Given the description of an element on the screen output the (x, y) to click on. 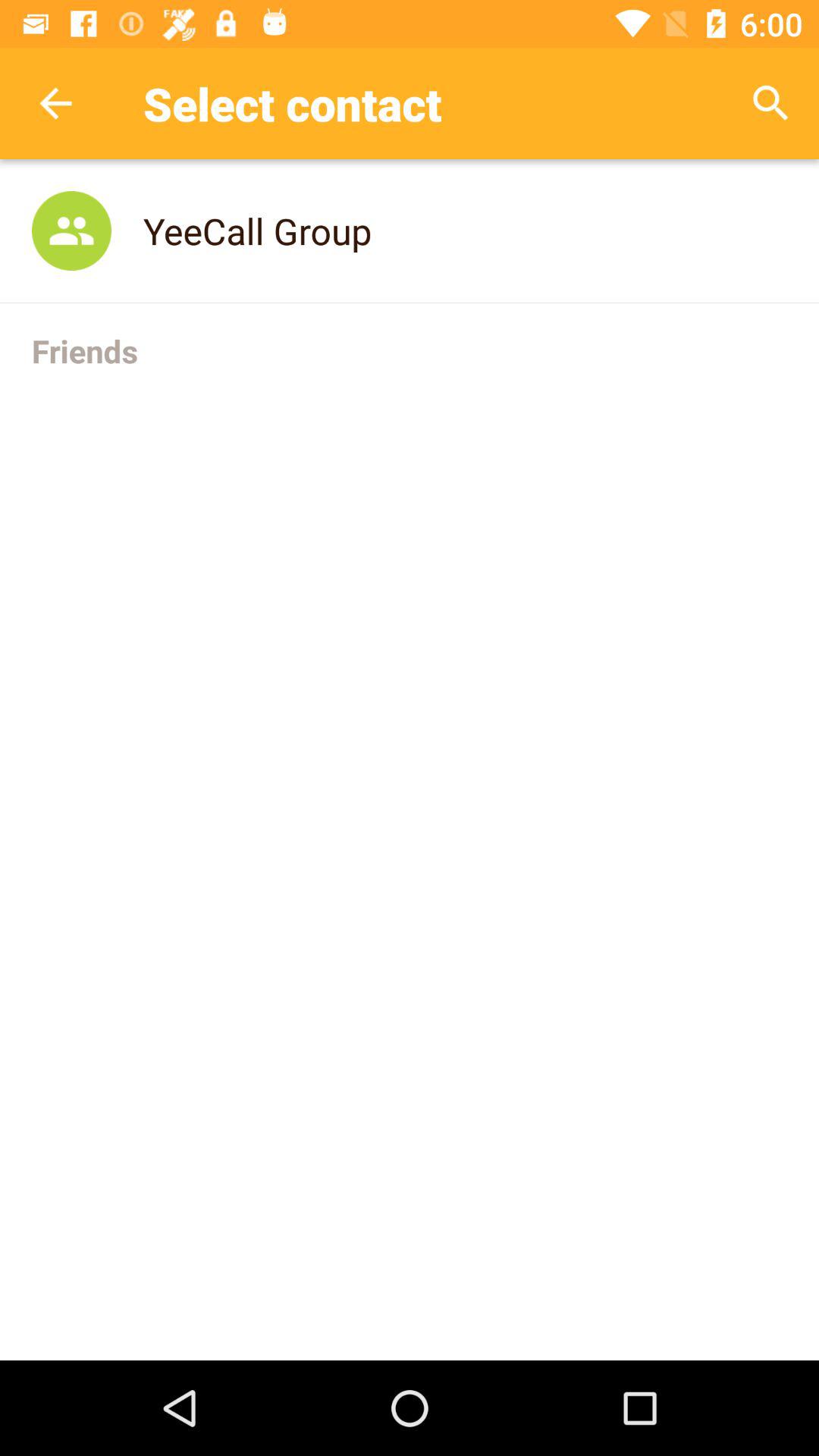
turn on item at the top right corner (771, 103)
